Given the description of an element on the screen output the (x, y) to click on. 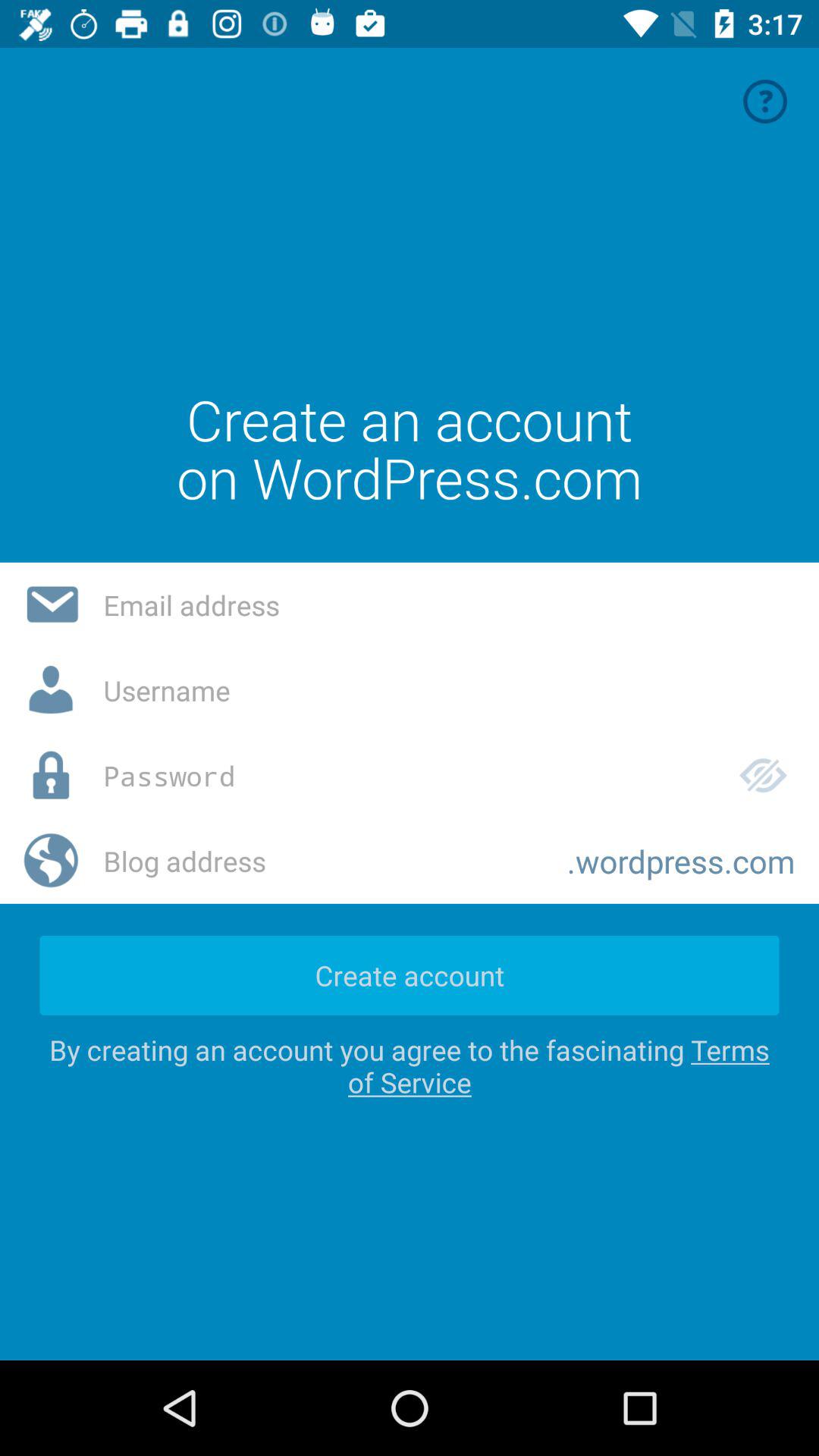
press item next to .wordpress.com (323, 860)
